Given the description of an element on the screen output the (x, y) to click on. 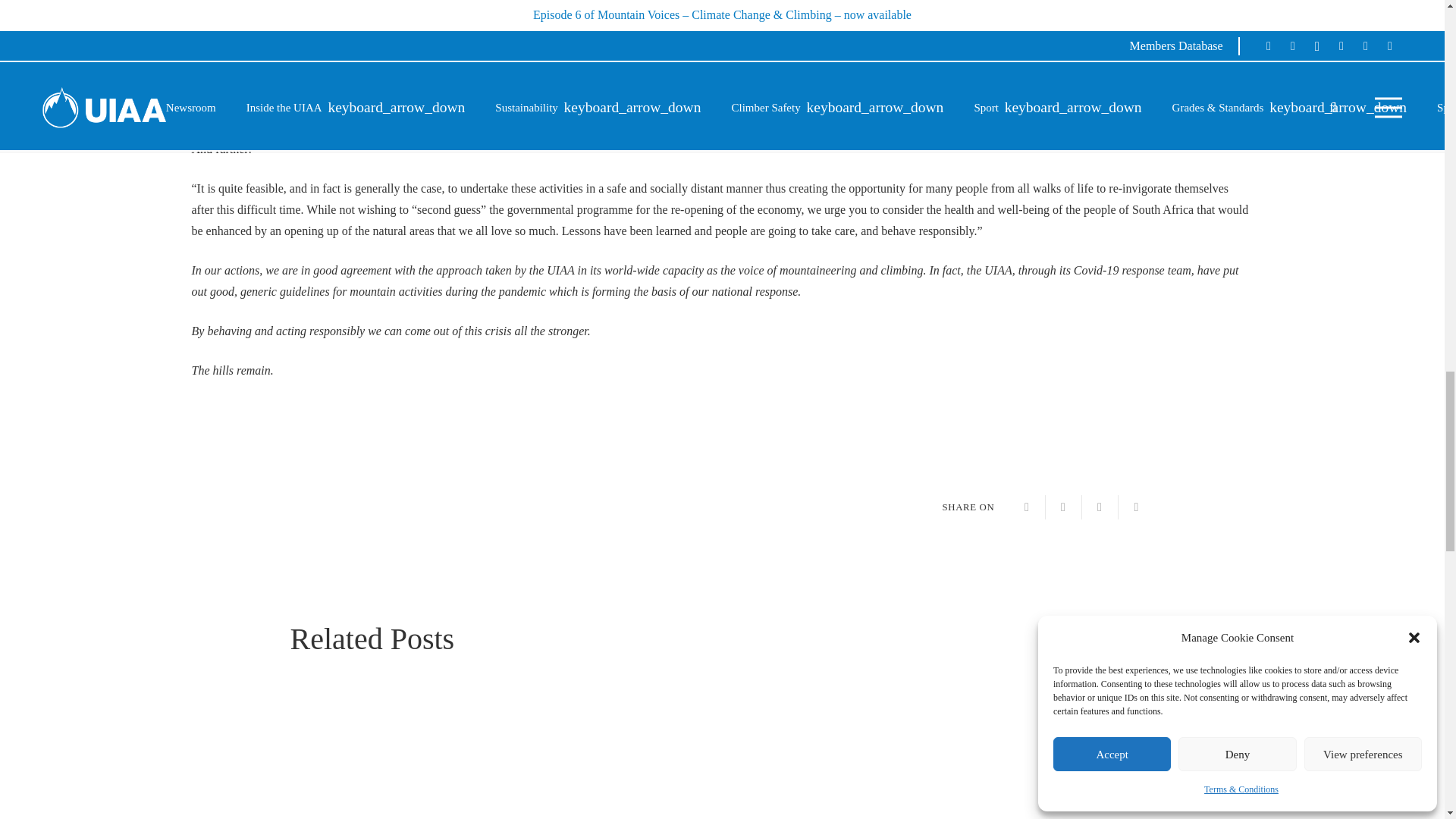
Share this (1099, 507)
Tweet this (1063, 507)
Share this (1136, 507)
Share this (1027, 507)
